Given the description of an element on the screen output the (x, y) to click on. 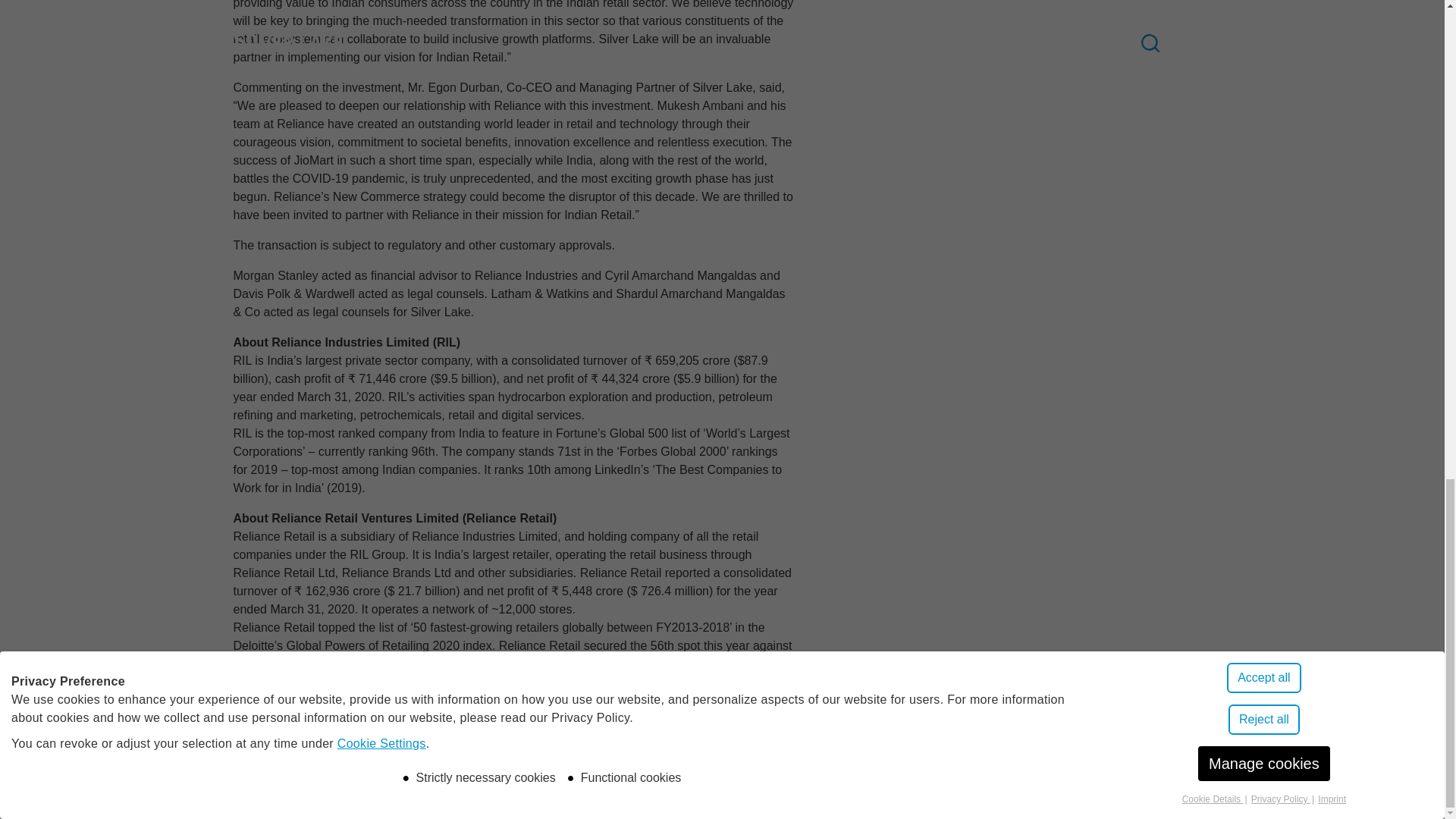
Legal and Privacy (393, 791)
Cookie Settings (497, 791)
